Given the description of an element on the screen output the (x, y) to click on. 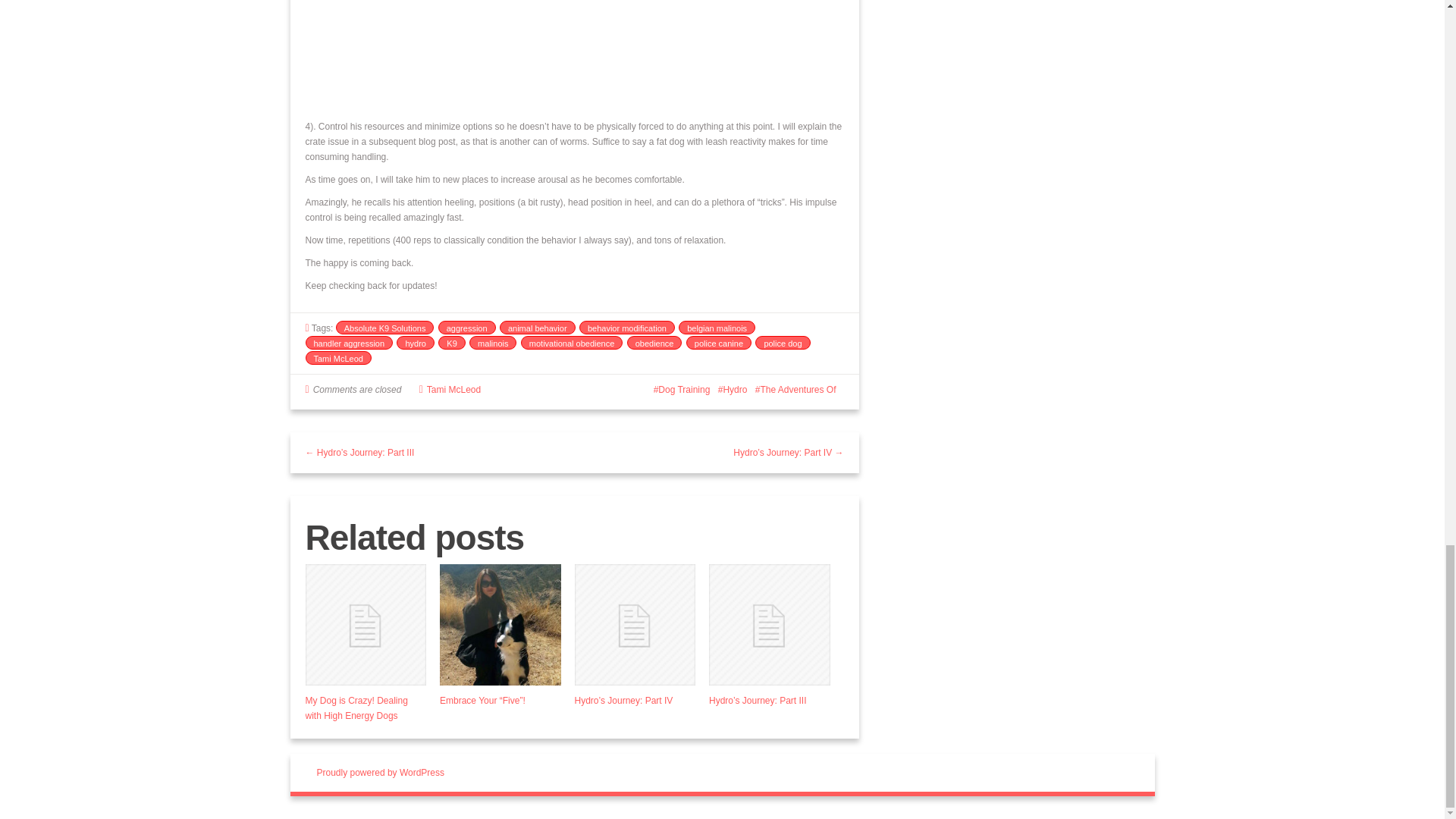
My Dog is Crazy! Dealing with High Energy Dogs (355, 708)
malinois (492, 342)
Posts by Tami McLeod (453, 389)
Tami McLeod (337, 357)
Absolute K9 Solutions (384, 327)
Dog Training (681, 389)
belgian malinois (716, 327)
aggression (467, 327)
behavior modification (627, 327)
motivational obedience (572, 342)
A Semantic Personal Publishing Platform (381, 772)
hydro (414, 342)
Hydro (732, 389)
My Dog is Crazy!  Dealing with High Energy Dogs (365, 624)
animal behavior (537, 327)
